Given the description of an element on the screen output the (x, y) to click on. 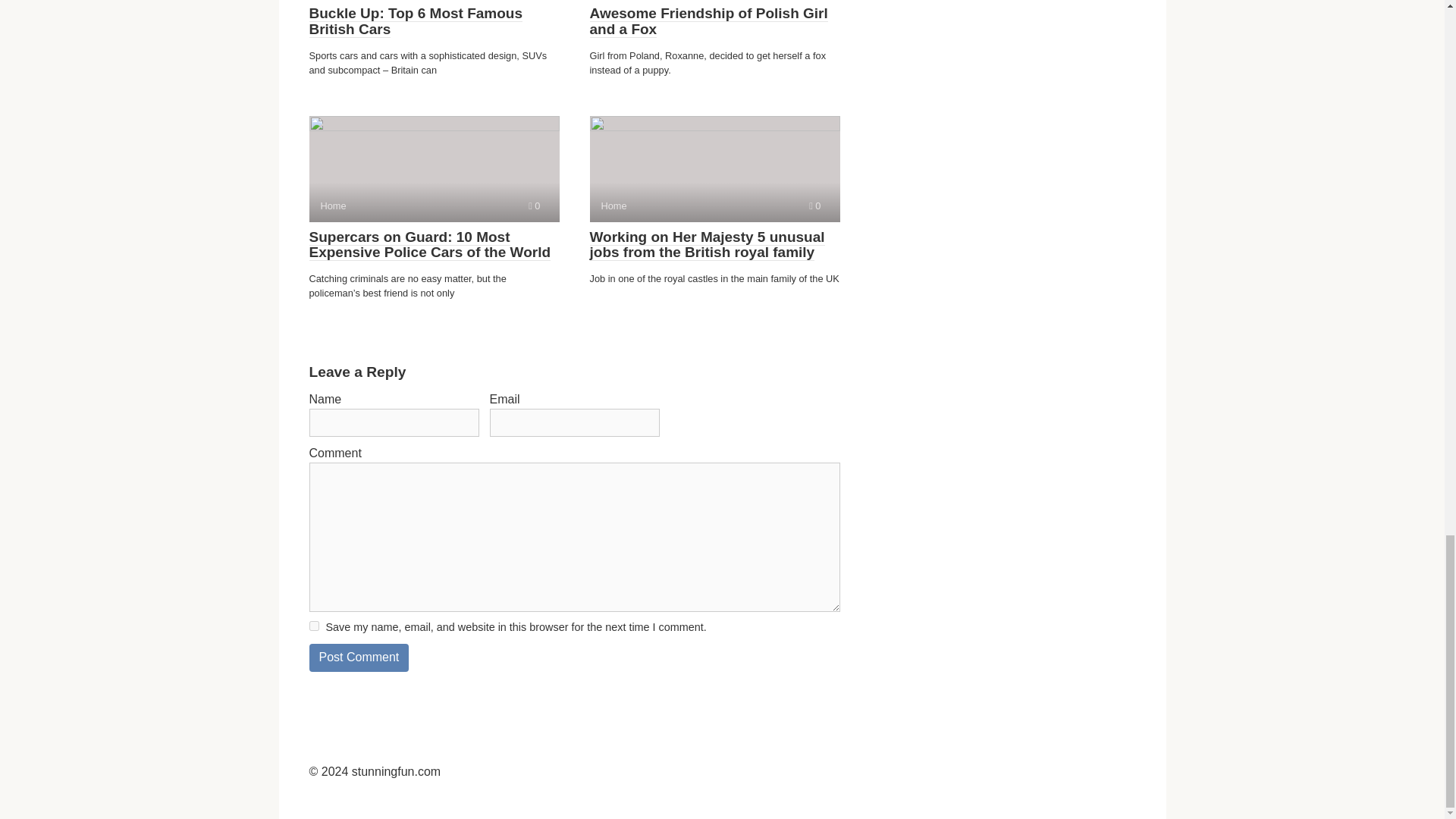
Post Comment (358, 657)
Buckle Up: Top 6 Most Famous British Cars (433, 168)
yes (415, 20)
Awesome Friendship of Polish Girl and a Fox (313, 625)
Post Comment (708, 20)
Comments (714, 168)
